Given the description of an element on the screen output the (x, y) to click on. 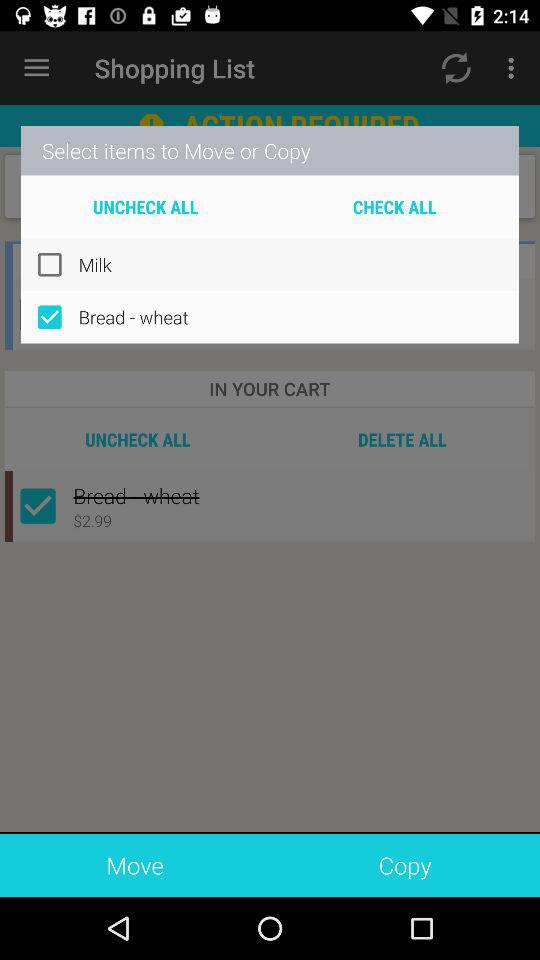
flip to select items to icon (270, 150)
